Given the description of an element on the screen output the (x, y) to click on. 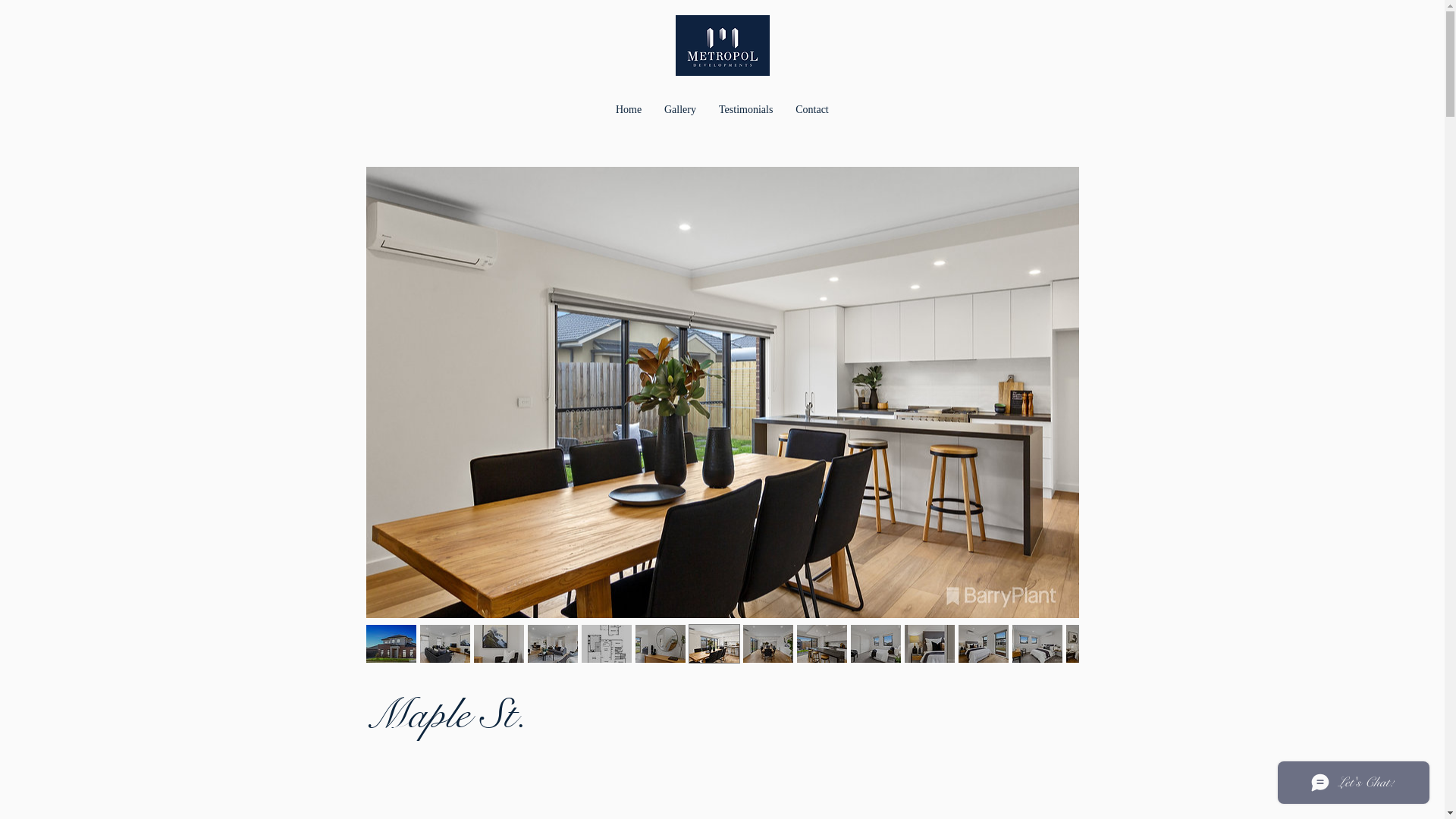
Contact Element type: text (812, 109)
Testimonials Element type: text (745, 109)
Gallery Element type: text (679, 109)
Home Element type: text (628, 109)
